Given the description of an element on the screen output the (x, y) to click on. 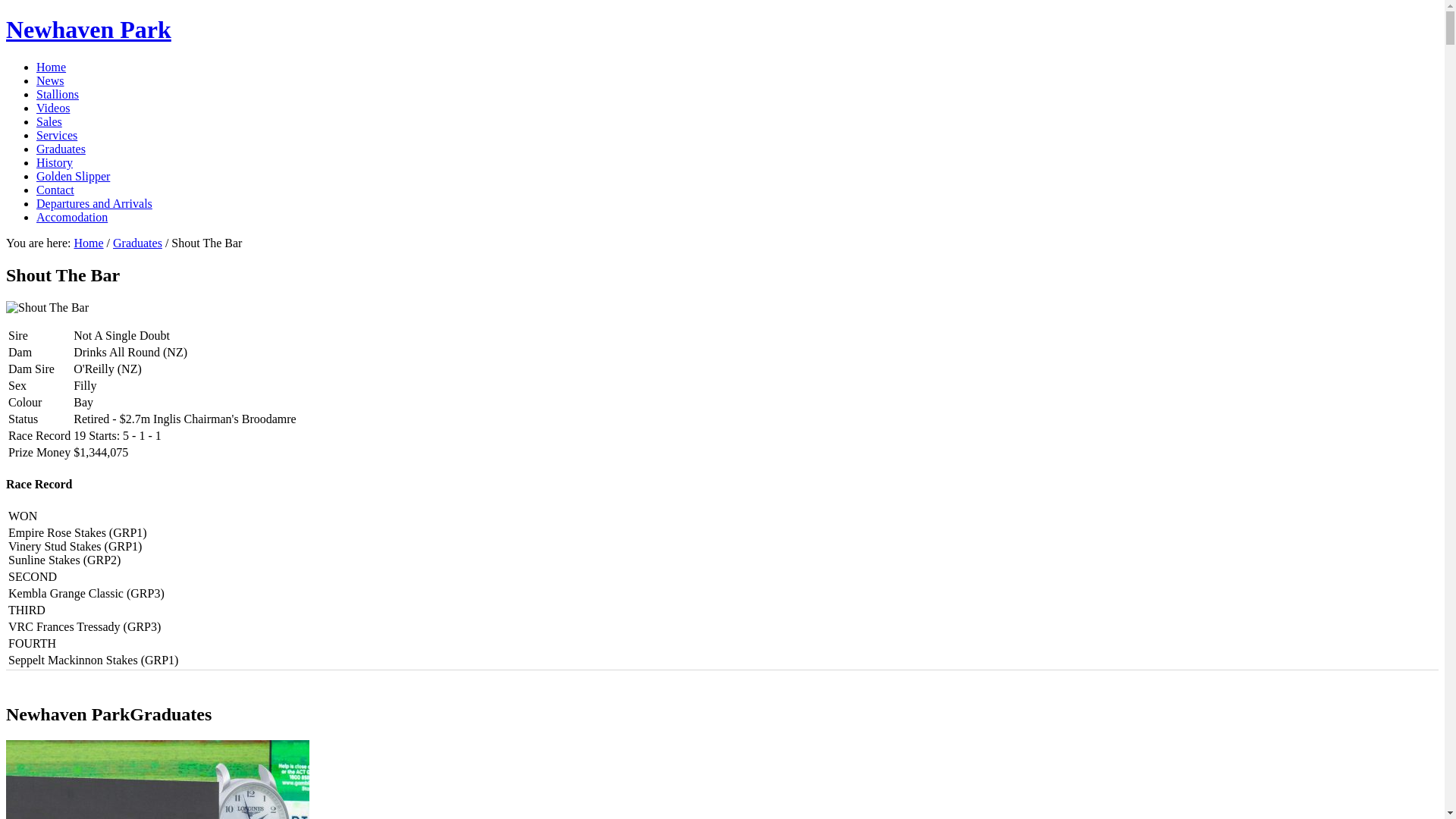
Golden Slipper Element type: text (72, 175)
Contact Element type: text (55, 189)
News Element type: text (49, 80)
Stallions Element type: text (57, 93)
Home Element type: text (88, 242)
History Element type: text (54, 162)
Services Element type: text (56, 134)
Graduates Element type: text (137, 242)
Home Element type: text (50, 66)
Accomodation Element type: text (71, 216)
Newhaven Park Element type: text (88, 29)
Videos Element type: text (52, 107)
Sales Element type: text (49, 121)
Graduates Element type: text (60, 148)
Departures and Arrivals Element type: text (94, 203)
